Given the description of an element on the screen output the (x, y) to click on. 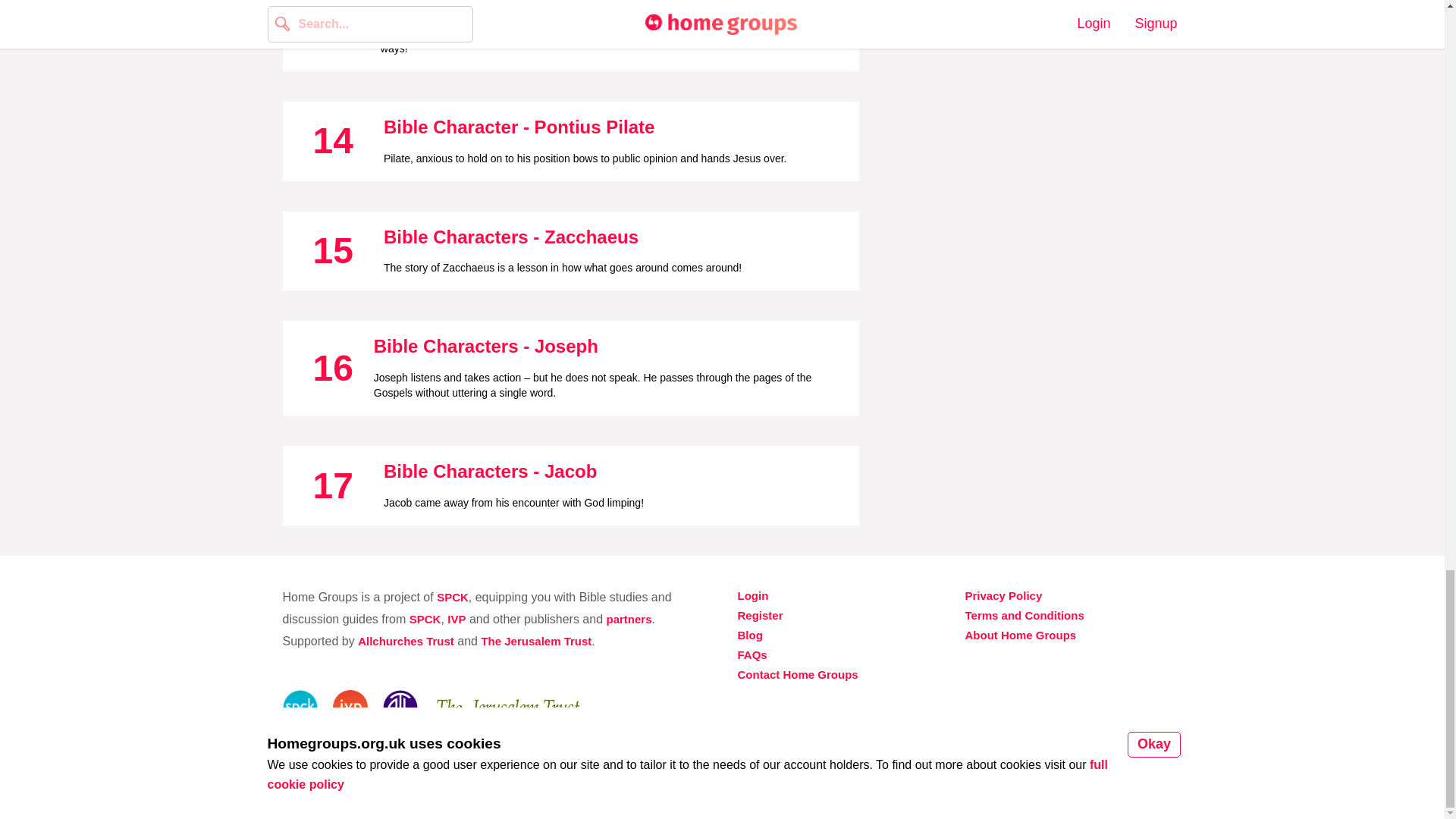
Bible Characters - Joseph (486, 345)
Bible Characters - The boy with five loaves and two fishes (602, 6)
Bible Character - Pontius Pilate (518, 127)
Bible Characters - Zacchaeus (511, 236)
